Given the description of an element on the screen output the (x, y) to click on. 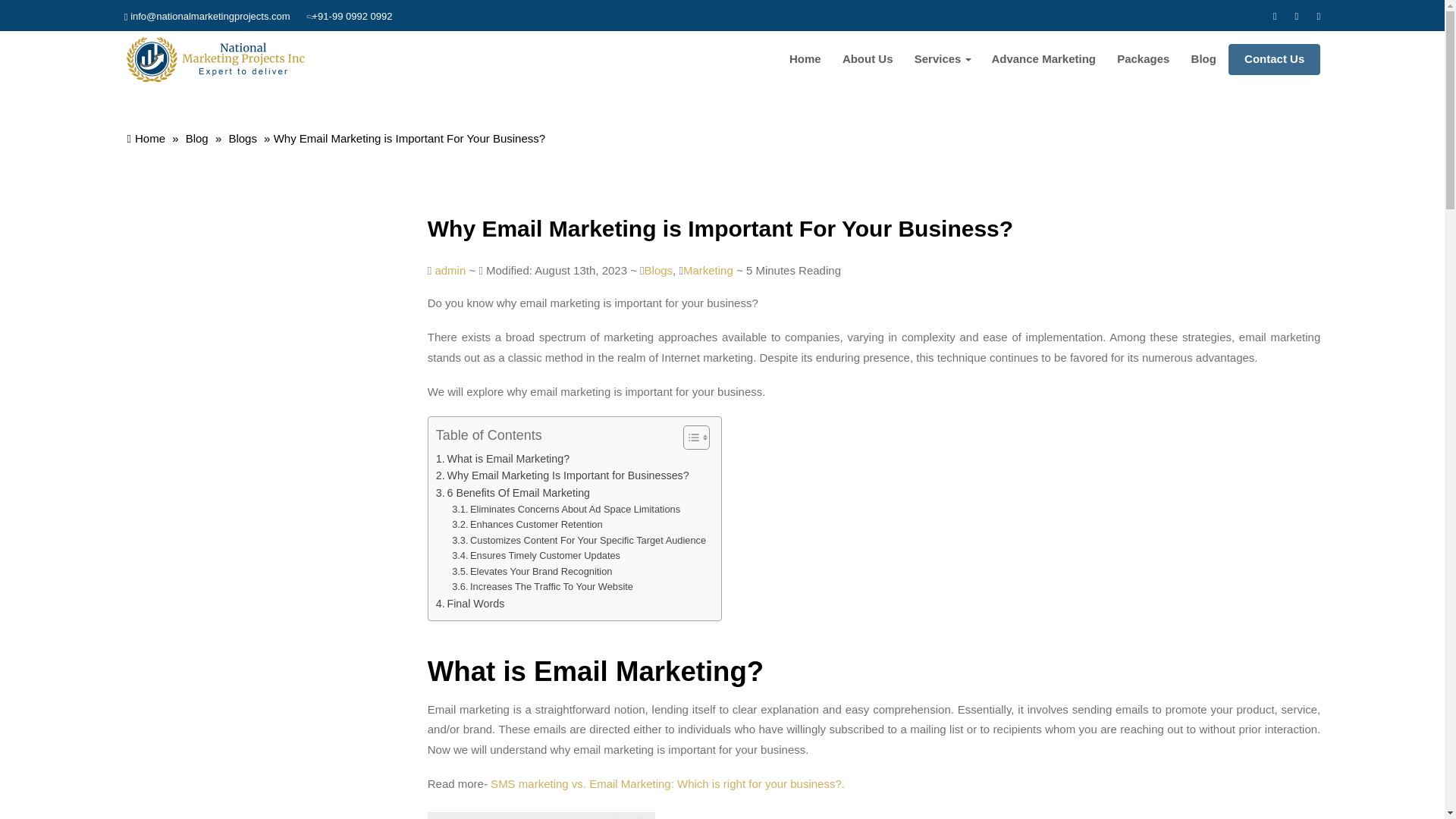
Advance Marketing (1043, 59)
Services (942, 59)
Home (804, 59)
Why Email Marketing Is Important for Businesses? (561, 475)
Packages (1142, 59)
What is Email Marketing? (502, 458)
Elevates Your Brand Recognition (531, 571)
Enhances Customer Retention (526, 524)
Ensures Timely Customer Updates (535, 555)
Final Words (470, 603)
